Given the description of an element on the screen output the (x, y) to click on. 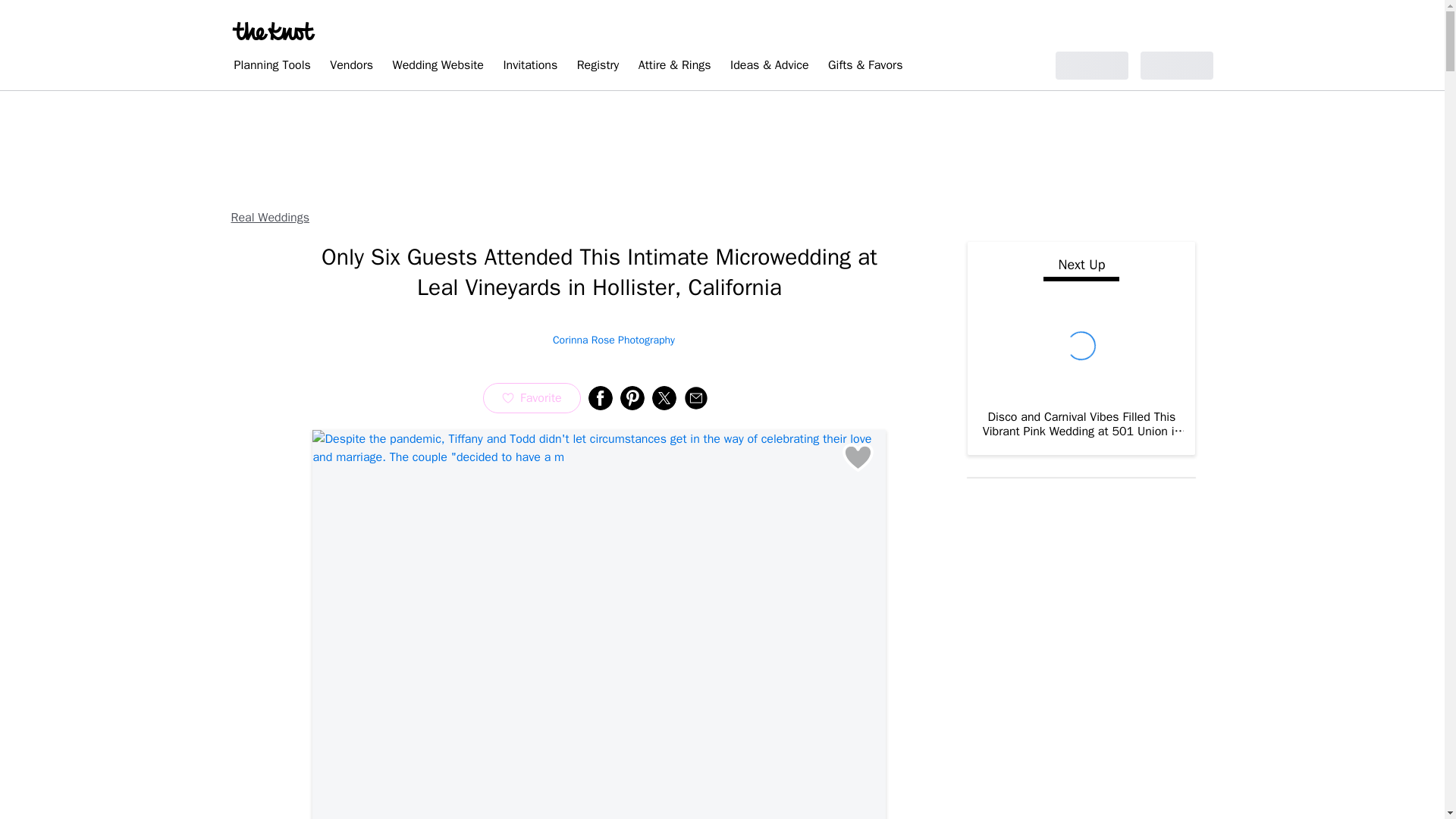
Vendors (350, 67)
Registry (598, 67)
Planning Tools (271, 67)
Invitations (529, 67)
Wedding Website (438, 67)
